Given the description of an element on the screen output the (x, y) to click on. 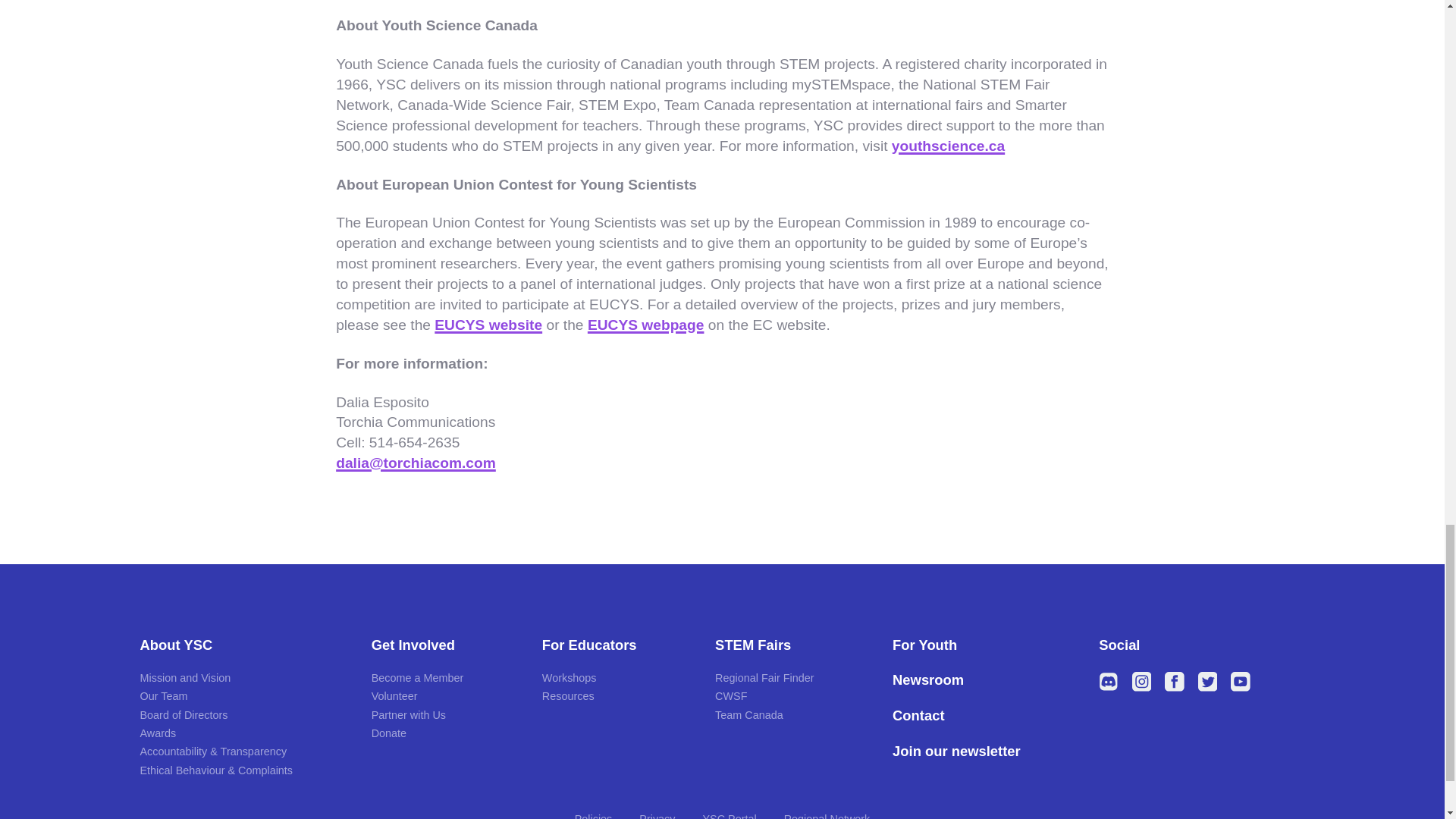
youthscience.ca (947, 145)
Awards (157, 733)
Mission and Vision (184, 677)
EUCYS webpage (646, 324)
Resources (567, 695)
EUCYS website (487, 324)
Volunteer (394, 695)
Get Involved (444, 645)
Donate (388, 733)
Become a Member (417, 677)
About YSC (242, 645)
For Educators (615, 645)
STEM Fairs (790, 645)
Our Team (163, 695)
Workshops (568, 677)
